Given the description of an element on the screen output the (x, y) to click on. 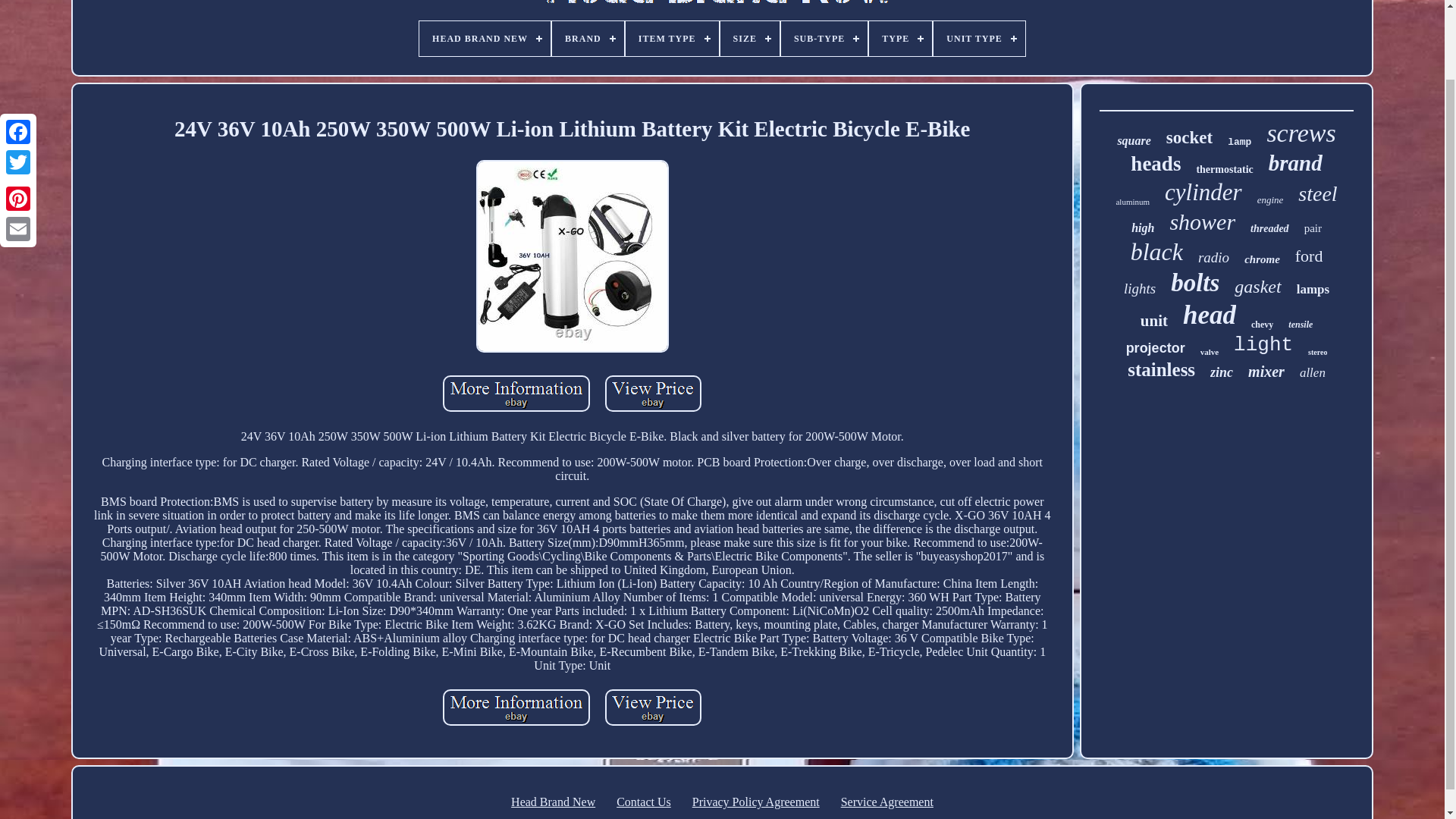
HEAD BRAND NEW (484, 38)
Twitter (17, 82)
BRAND (587, 38)
ITEM TYPE (672, 38)
